Given the description of an element on the screen output the (x, y) to click on. 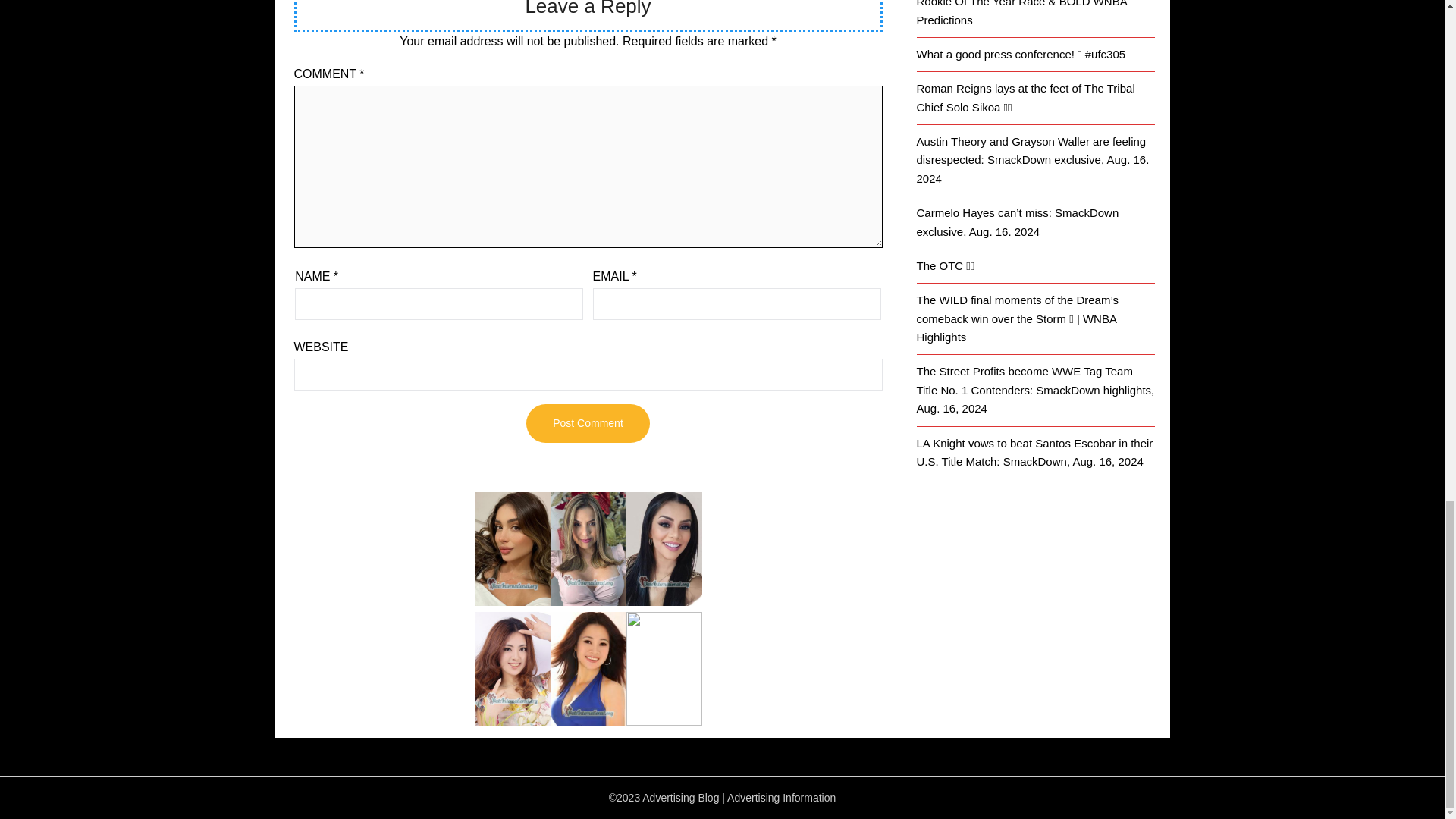
Post Comment (587, 423)
Post Comment (587, 423)
